Given the description of an element on the screen output the (x, y) to click on. 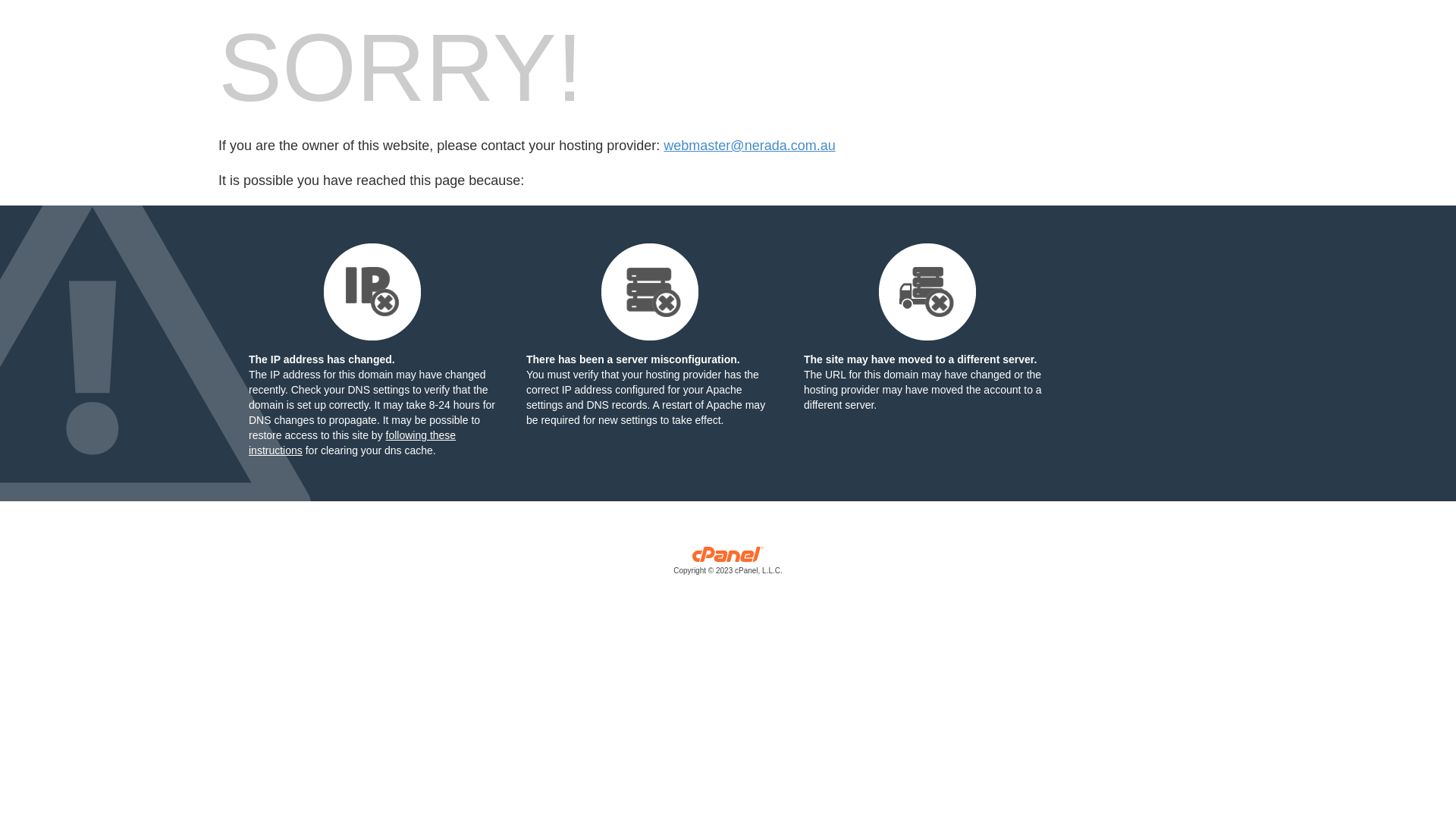
webmaster@nerada.com.au Element type: text (748, 145)
following these instructions Element type: text (351, 442)
